Given the description of an element on the screen output the (x, y) to click on. 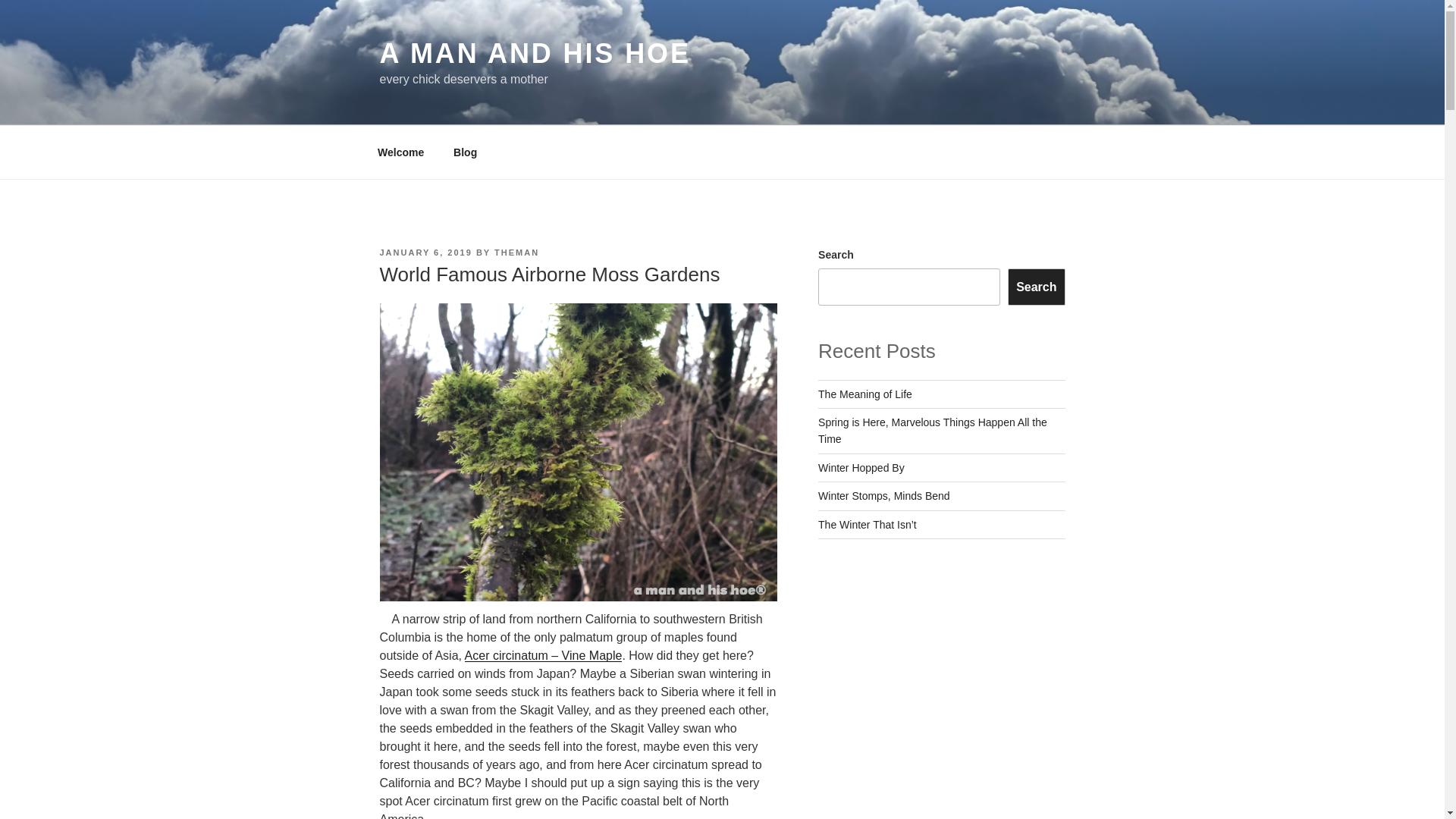
Blog (465, 151)
The Meaning of Life (865, 394)
Welcome (400, 151)
Spring is Here, Marvelous Things Happen All the Time (932, 430)
A MAN AND HIS HOE (534, 52)
THEMAN (516, 252)
Search (1035, 286)
JANUARY 6, 2019 (424, 252)
Winter Stomps, Minds Bend (884, 495)
Winter Hopped By (861, 467)
